Given the description of an element on the screen output the (x, y) to click on. 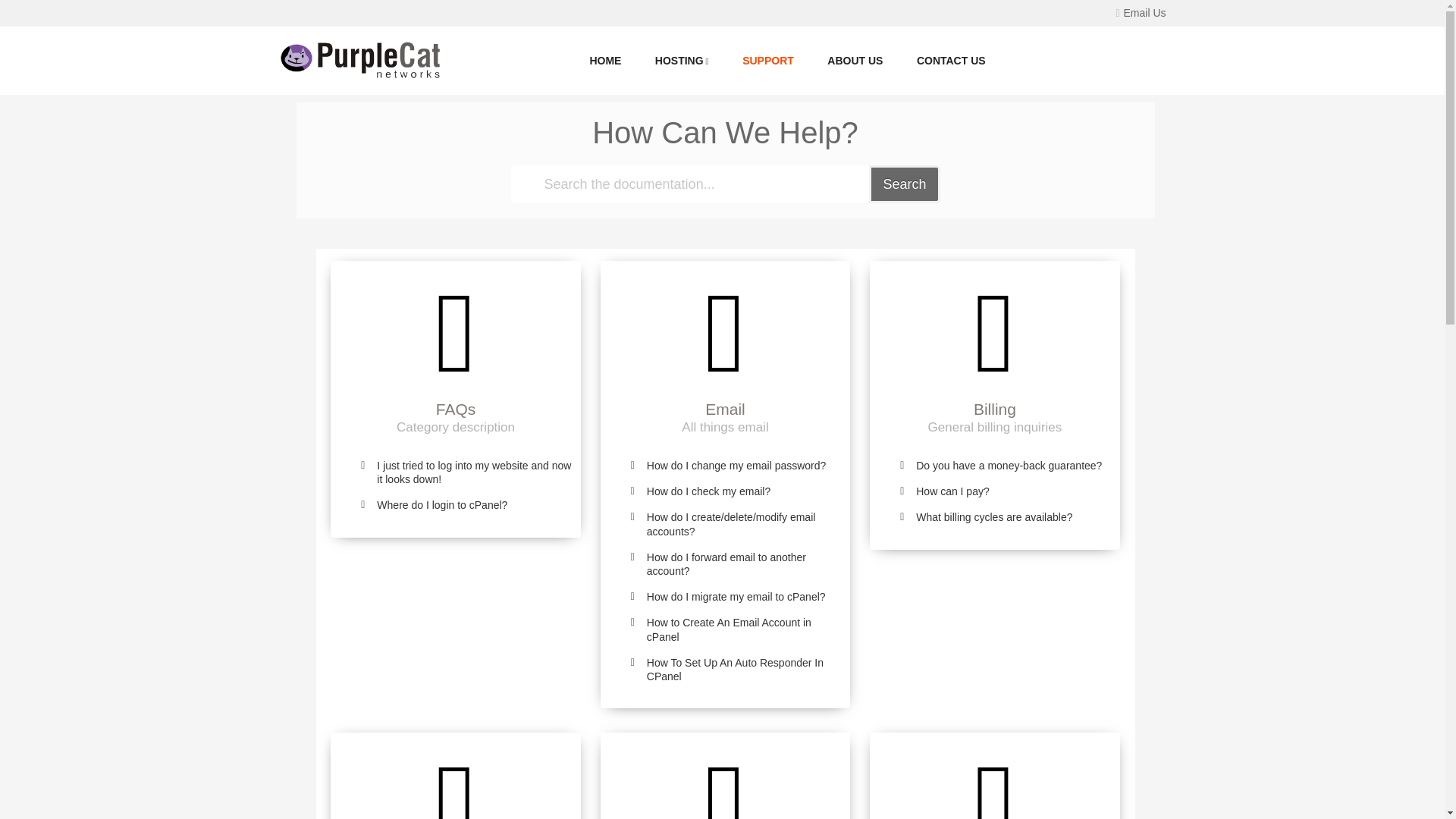
Email Us (1140, 12)
Hosting (682, 60)
Support (767, 60)
ABOUT US (854, 60)
Search (904, 184)
HOME (605, 60)
HOSTING (682, 60)
SUPPORT (767, 60)
About Us (854, 60)
Contact Us (951, 60)
